Given the description of an element on the screen output the (x, y) to click on. 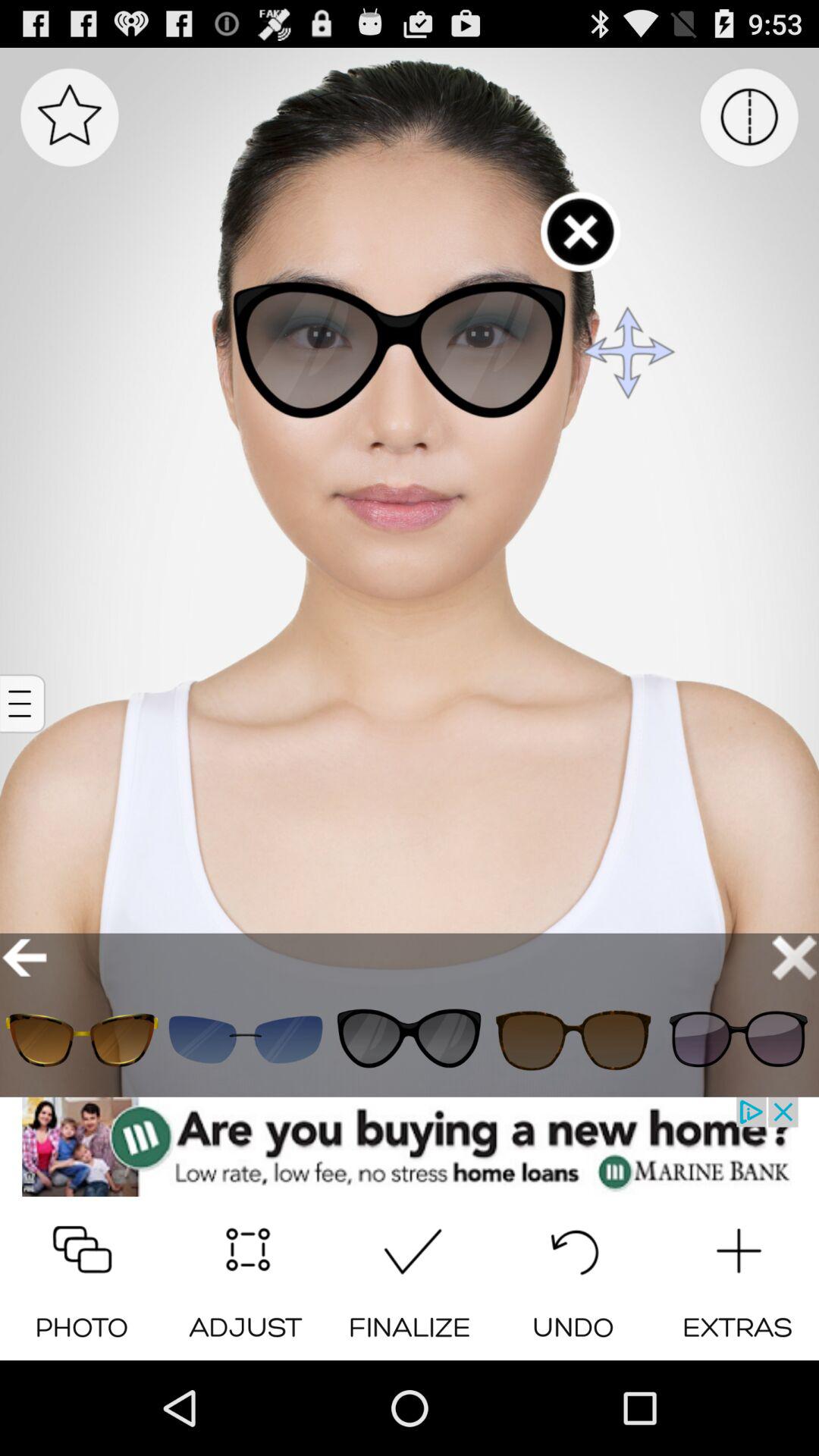
view options (24, 703)
